Given the description of an element on the screen output the (x, y) to click on. 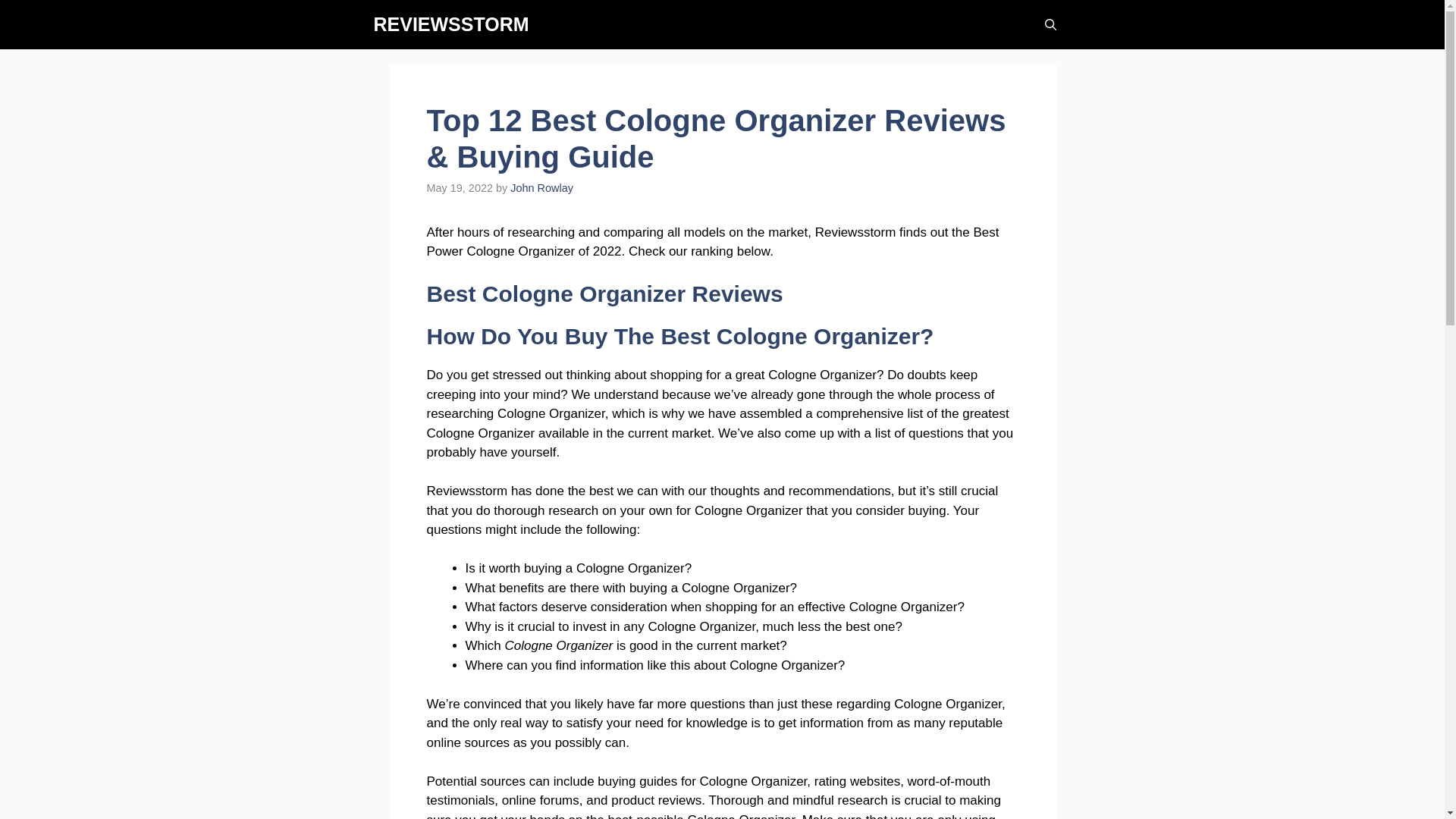
REVIEWSSTORM (450, 24)
View all posts by John Rowlay (542, 187)
John Rowlay (542, 187)
